Given the description of an element on the screen output the (x, y) to click on. 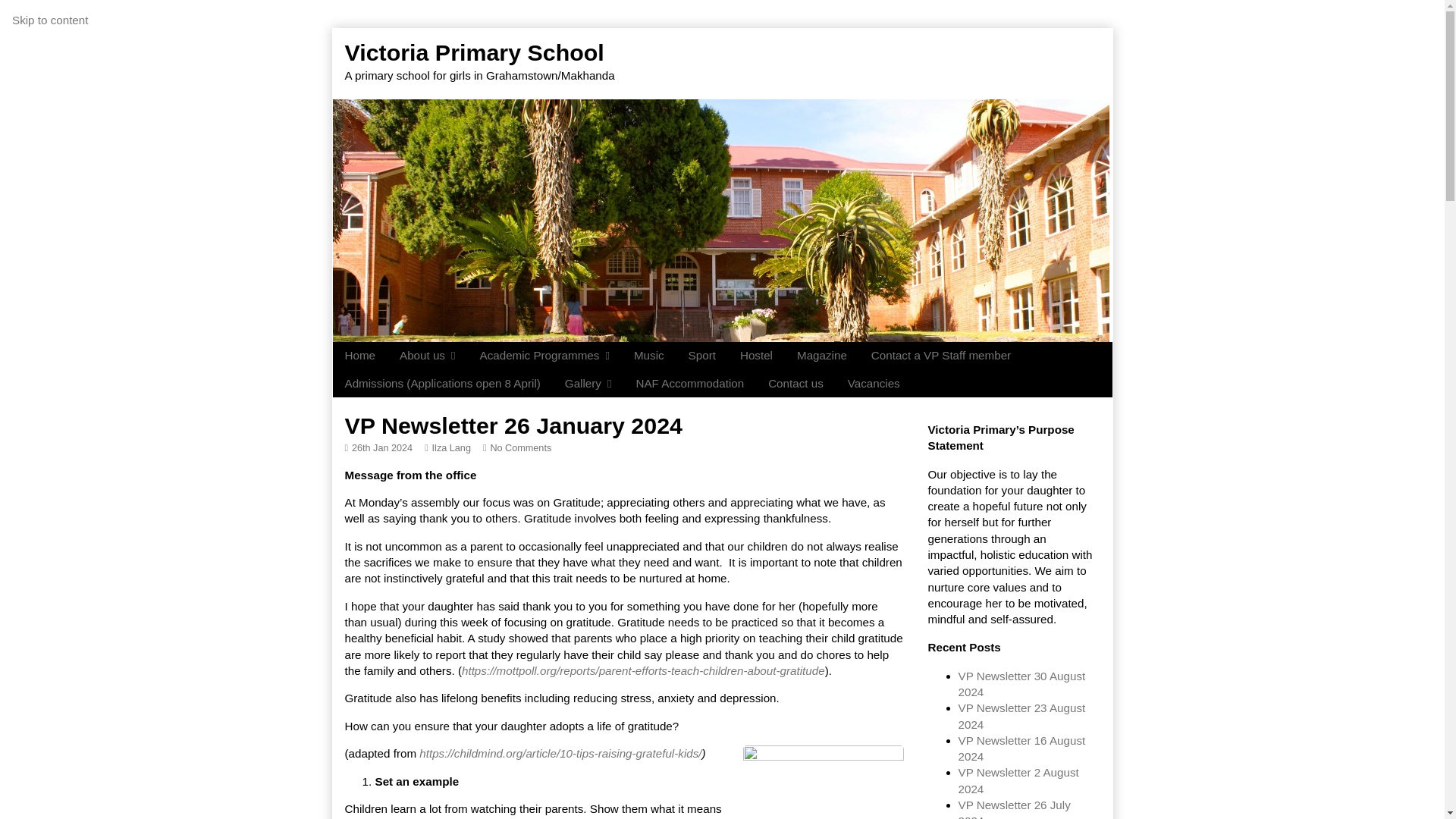
Sport (702, 355)
About us (427, 355)
Contact us (795, 383)
Gallery (588, 383)
Academic Programmes (544, 355)
Home (359, 355)
Skip to content (49, 19)
VP Newsletter 26 July 2024 (1014, 808)
VP Newsletter 30 August 2024 (1022, 683)
Vacancies (873, 383)
